Given the description of an element on the screen output the (x, y) to click on. 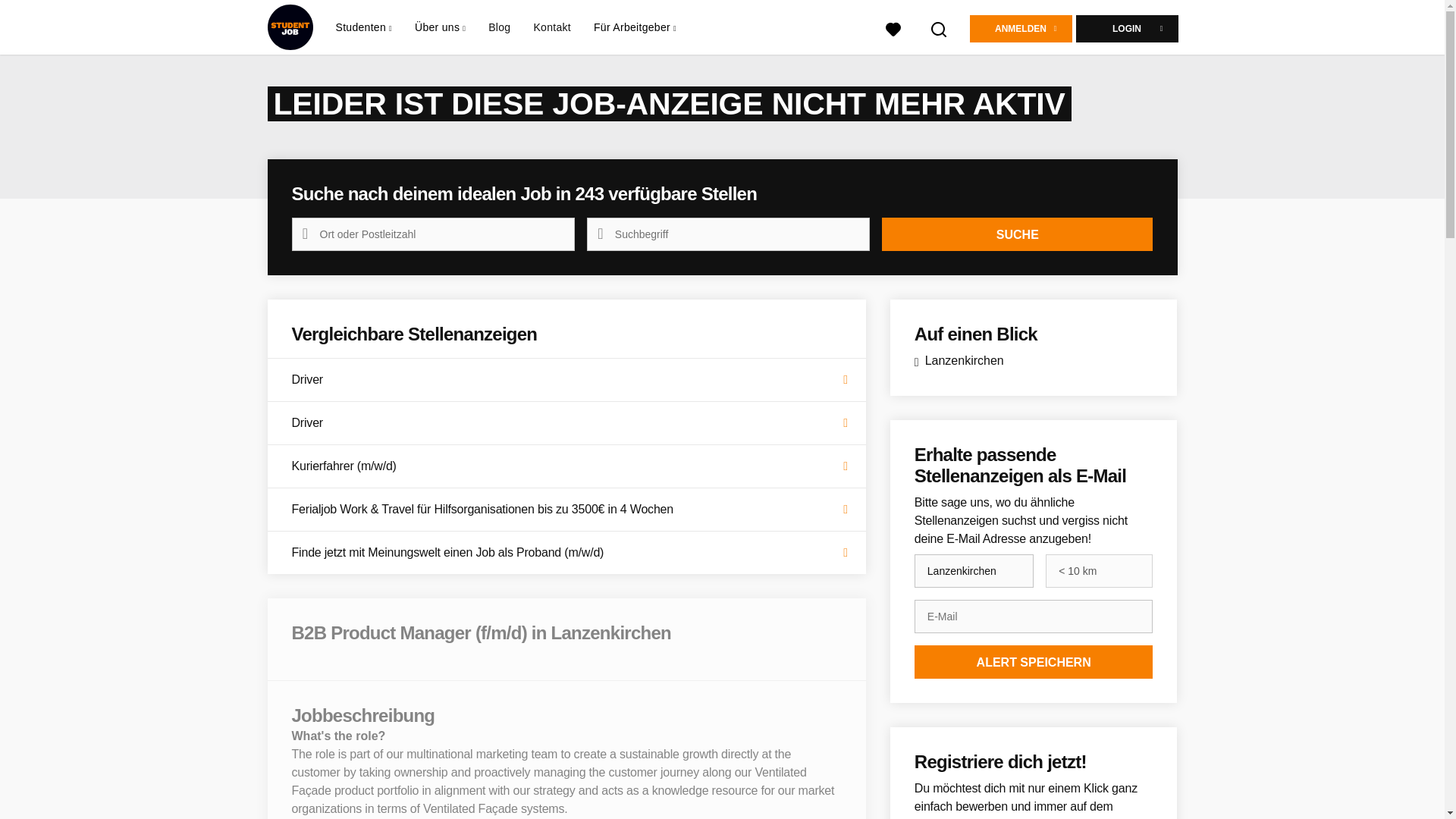
Lanzenkirchen (973, 571)
StudentJob AT (289, 26)
